Given the description of an element on the screen output the (x, y) to click on. 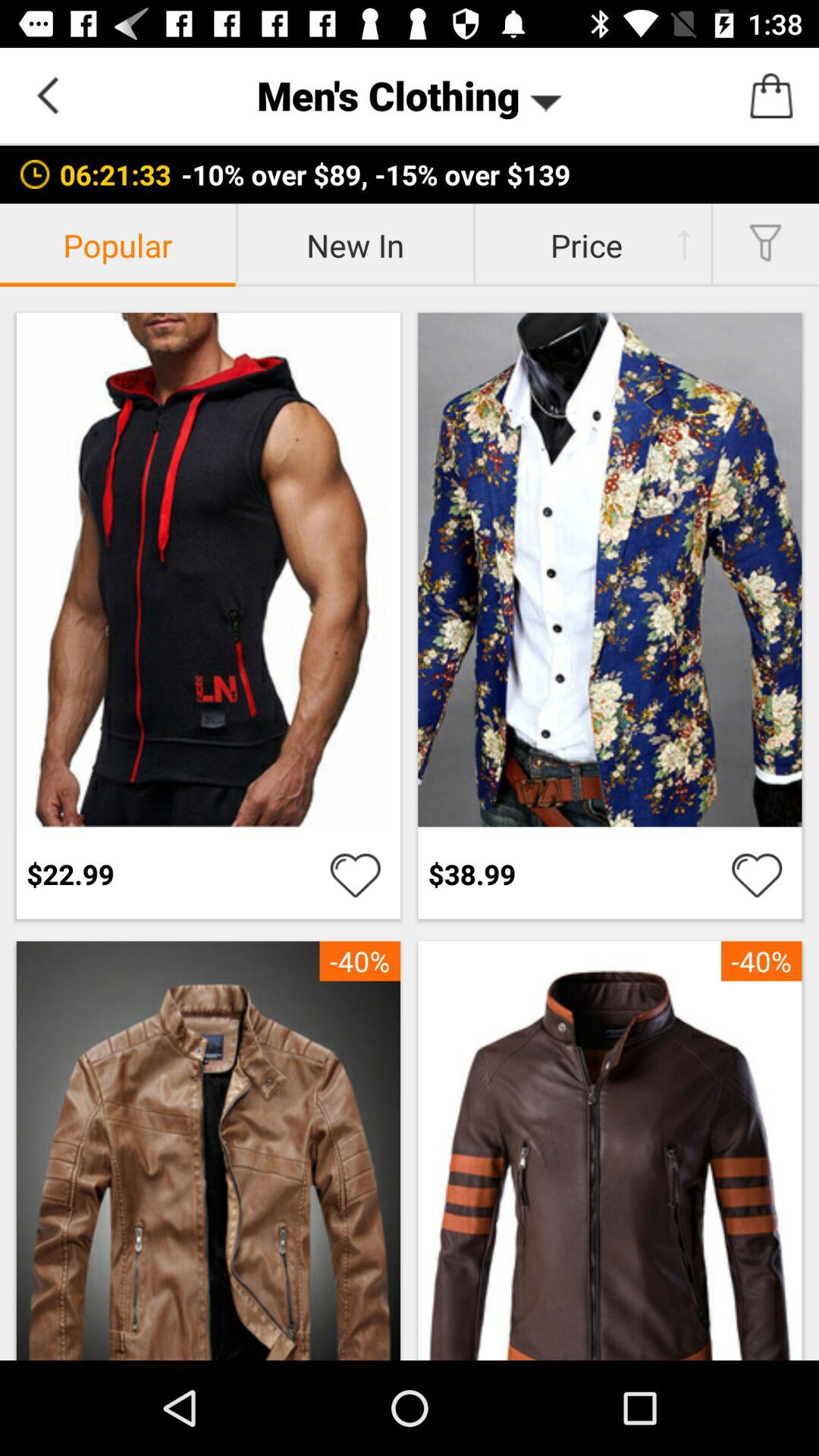
click to indicate you love this item (355, 874)
